Given the description of an element on the screen output the (x, y) to click on. 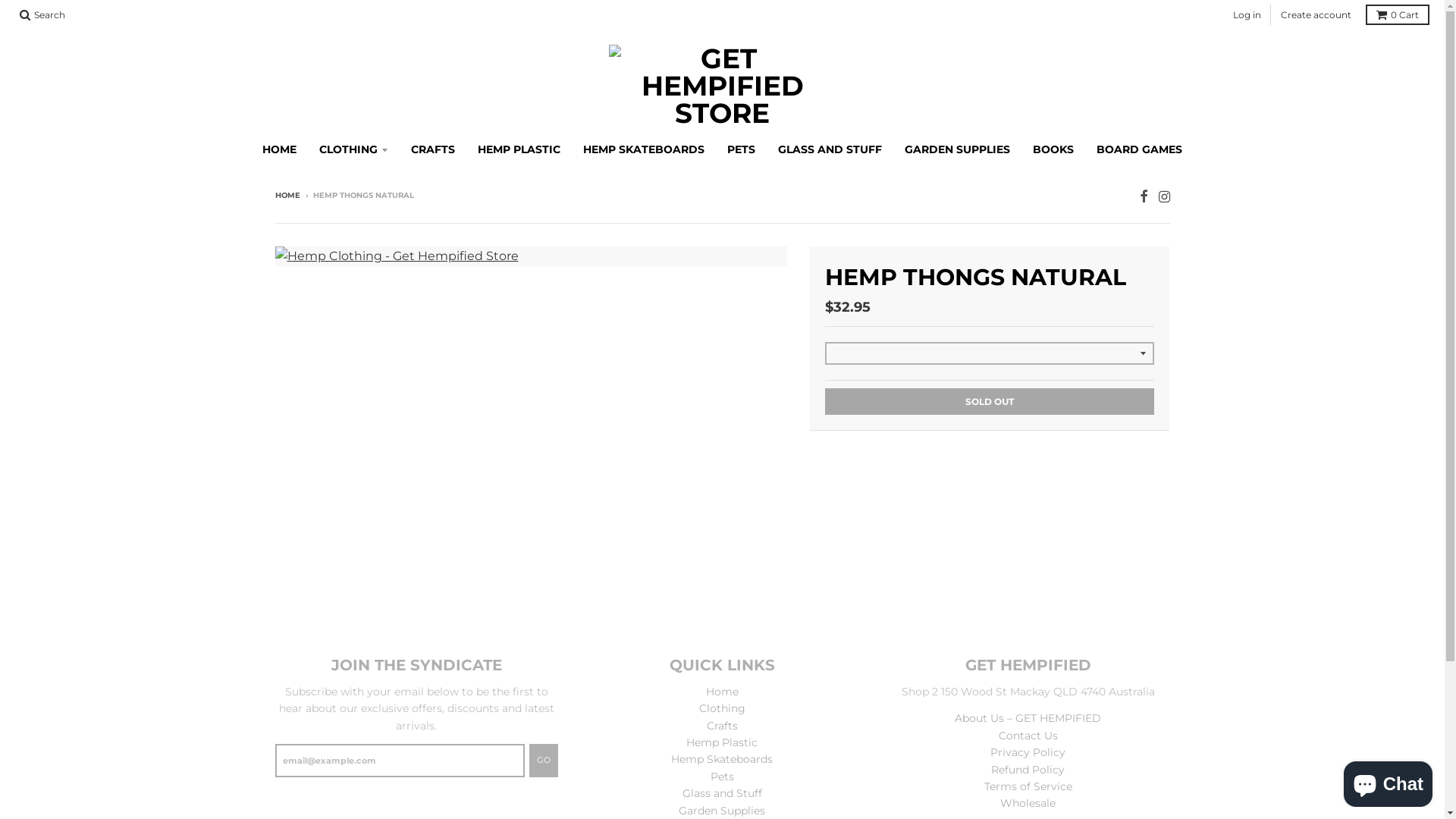
Terms of Service Element type: text (1028, 786)
Shopify online store chat Element type: hover (1388, 780)
HEMP SKATEBOARDS Element type: text (643, 149)
Get Hempified Store on Facebook Element type: hover (1143, 196)
Create account Element type: text (1315, 14)
CRAFTS Element type: text (432, 149)
BOARD GAMES Element type: text (1139, 149)
Get Hempified Store on Instagram Element type: hover (1164, 196)
Hemp Skateboards Element type: text (721, 758)
Glass and Stuff Element type: text (722, 793)
Log in Element type: text (1246, 14)
Hemp Plastic Element type: text (721, 742)
HEMP PLASTIC Element type: text (518, 149)
GARDEN SUPPLIES Element type: text (956, 149)
Pets Element type: text (722, 776)
Search Element type: text (42, 14)
BOOKS Element type: text (1052, 149)
HOME Element type: text (286, 195)
GO Element type: text (543, 760)
Contact Us Element type: text (1027, 735)
HOME Element type: text (279, 149)
Wholesale Element type: text (1027, 802)
CLOTHING Element type: text (353, 149)
SOLD OUT Element type: text (989, 401)
Privacy Policy Element type: text (1027, 752)
Crafts Element type: text (721, 725)
GLASS AND STUFF Element type: text (829, 149)
Garden Supplies Element type: text (721, 810)
Clothing Element type: text (722, 708)
Home Element type: text (722, 691)
Refund Policy Element type: text (1027, 769)
PETS Element type: text (741, 149)
0 Cart Element type: text (1397, 14)
